Given the description of an element on the screen output the (x, y) to click on. 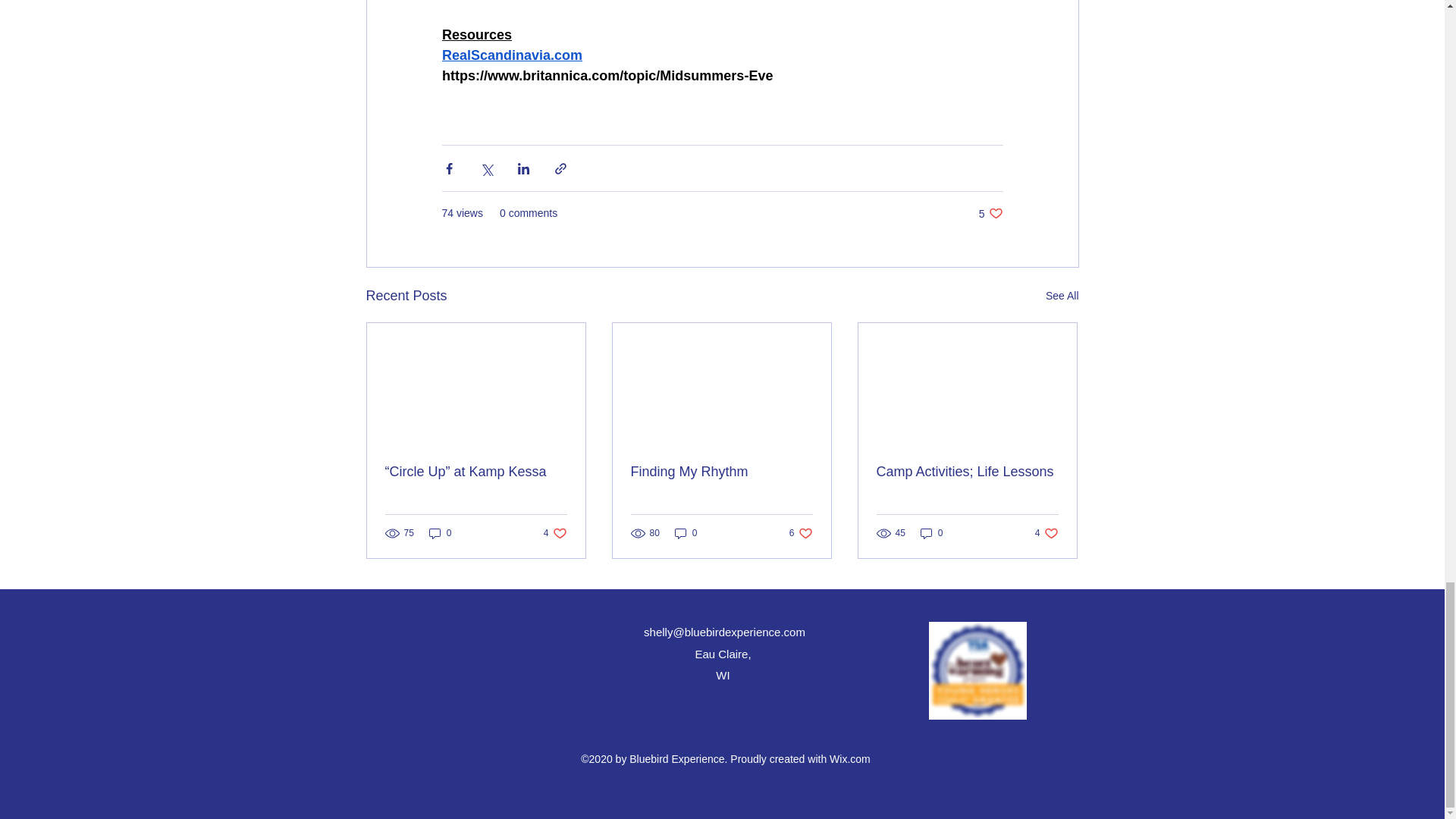
Hershey 2021 Badge.png (977, 670)
